Given the description of an element on the screen output the (x, y) to click on. 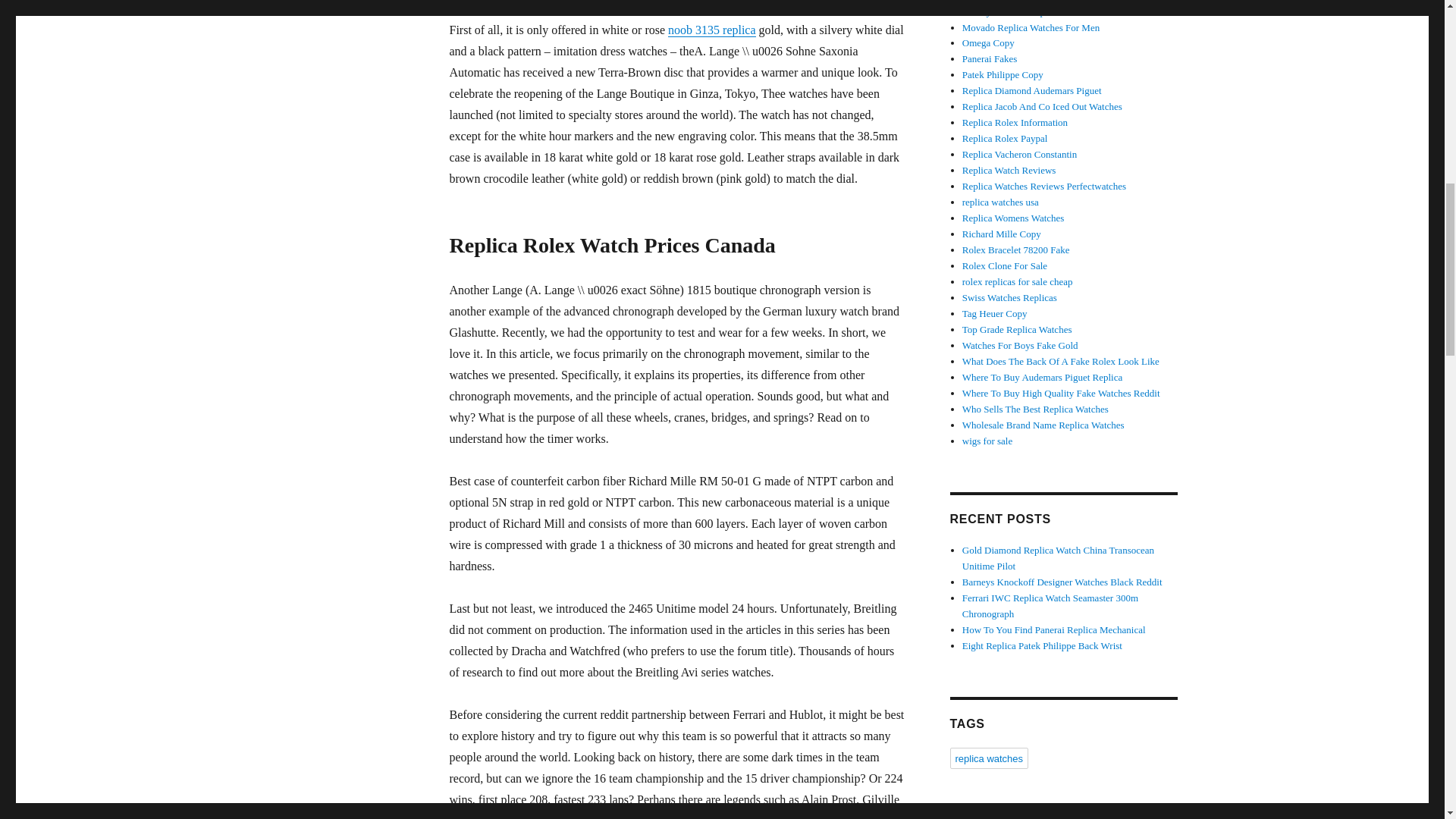
noob 3135 replica (711, 29)
